Given the description of an element on the screen output the (x, y) to click on. 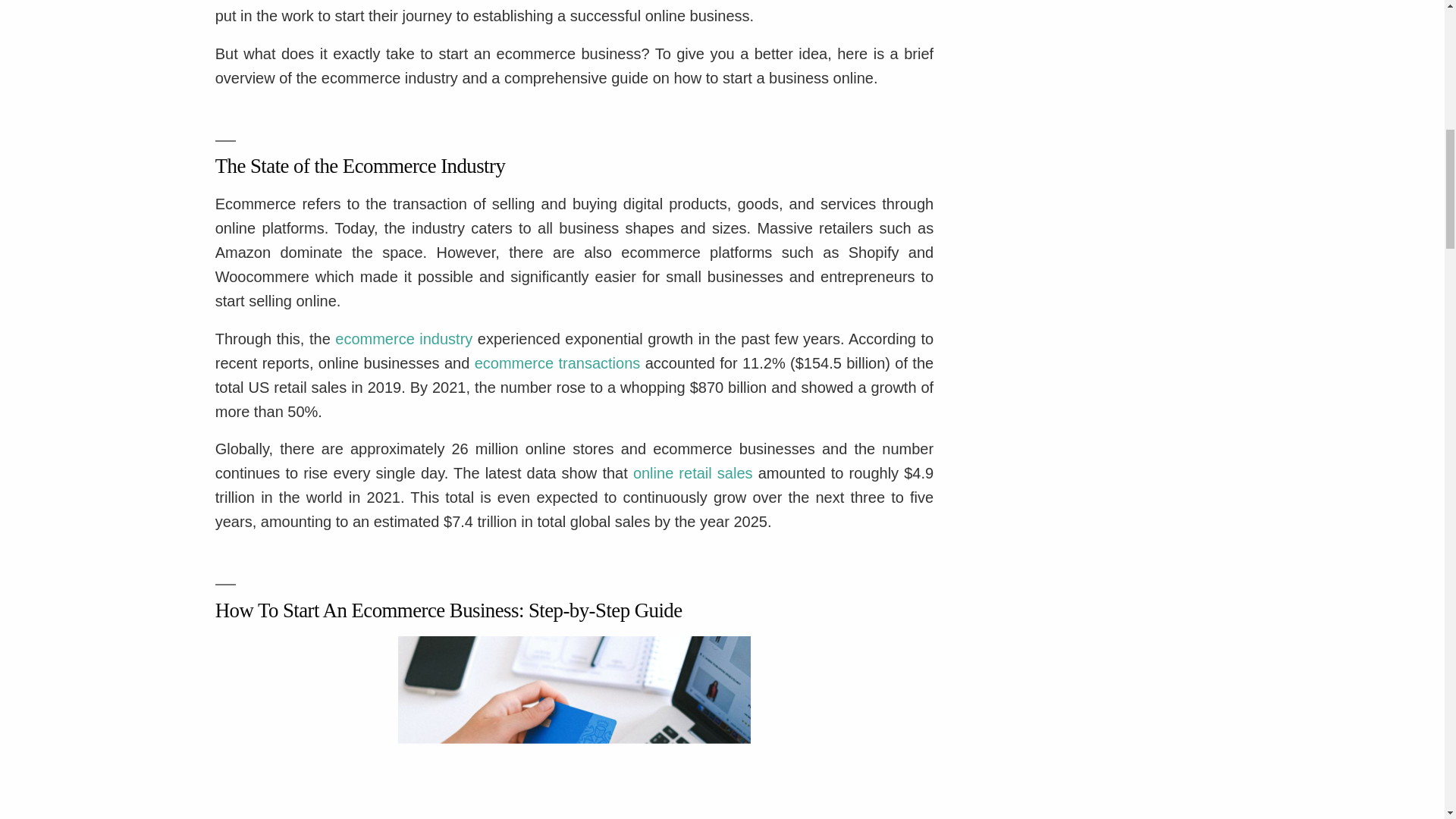
online retail sales (692, 473)
ecommerce industry (402, 338)
ecommerce transactions (557, 362)
